Given the description of an element on the screen output the (x, y) to click on. 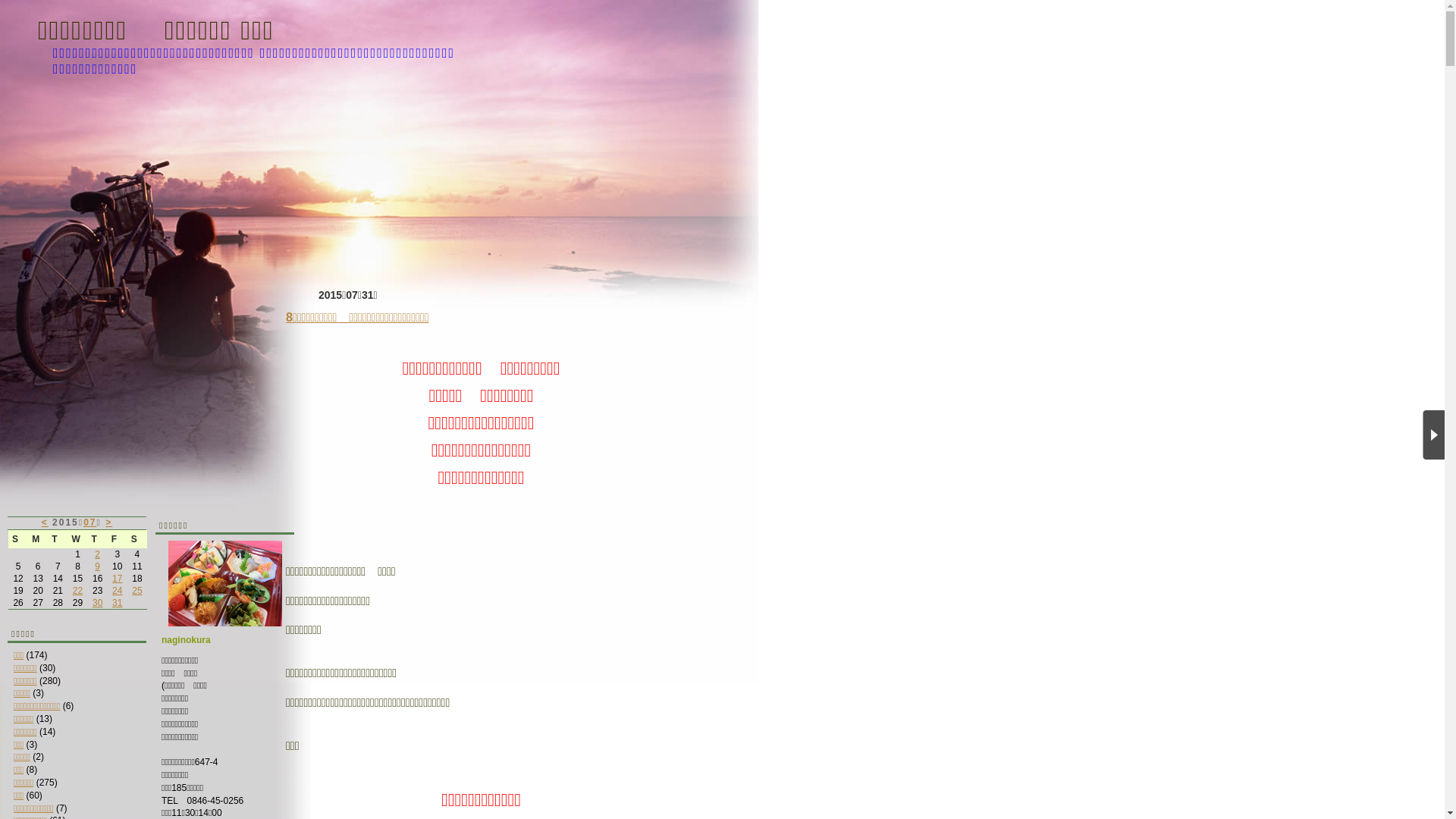
9 Element type: text (97, 566)
24 Element type: text (117, 590)
> Element type: text (108, 522)
31 Element type: text (117, 602)
07 Element type: text (89, 522)
17 Element type: text (117, 578)
22 Element type: text (77, 590)
25 Element type: text (136, 590)
2 Element type: text (97, 554)
< Element type: text (44, 522)
30 Element type: text (97, 602)
